Given the description of an element on the screen output the (x, y) to click on. 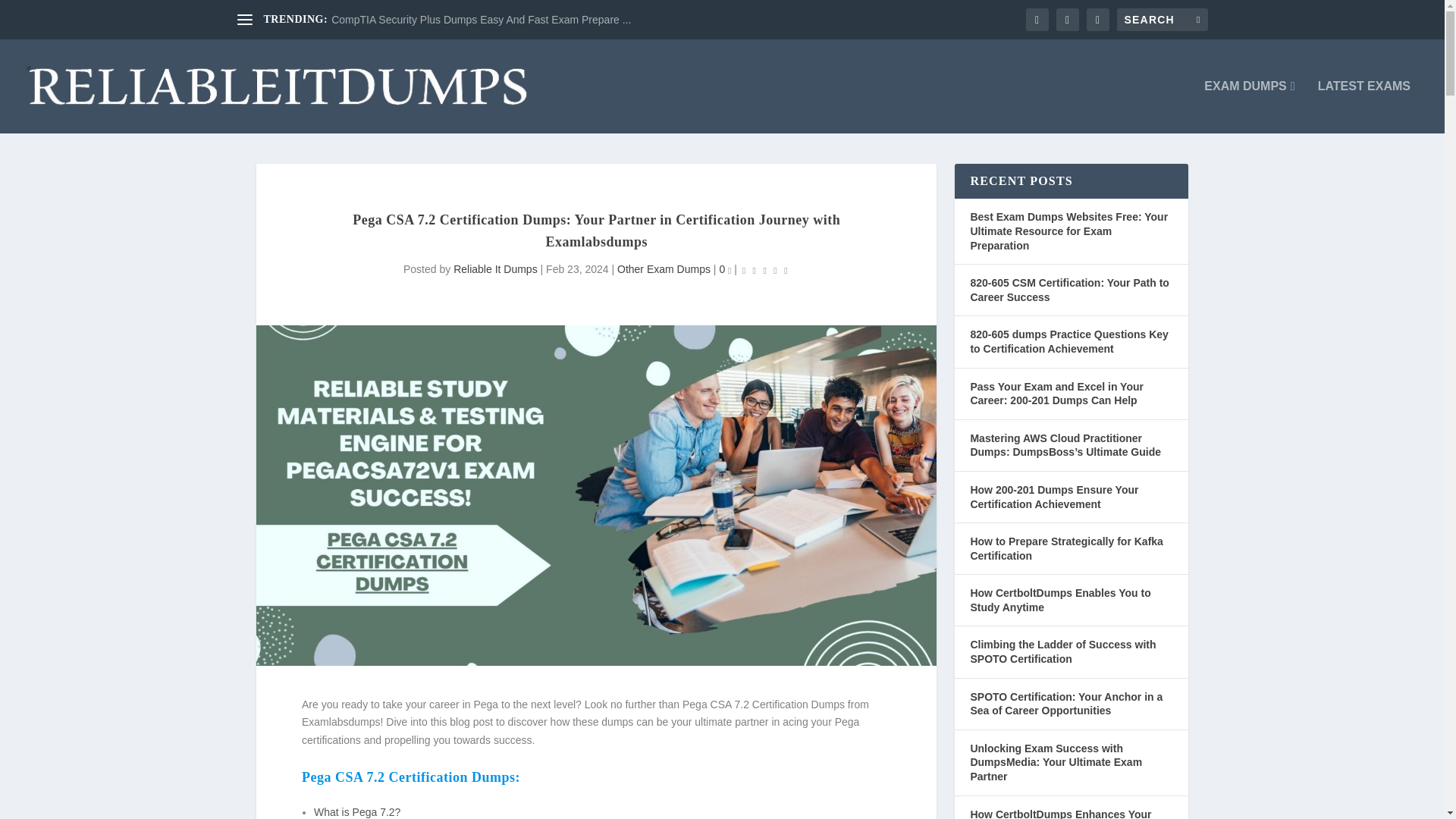
Posts by Reliable It Dumps (494, 268)
LATEST EXAMS (1363, 106)
EXAM DUMPS (1249, 106)
CompTIA Security Plus Dumps Easy And Fast Exam Prepare ... (480, 19)
Rating: 0.00 (764, 270)
Search for: (1161, 19)
